Given the description of an element on the screen output the (x, y) to click on. 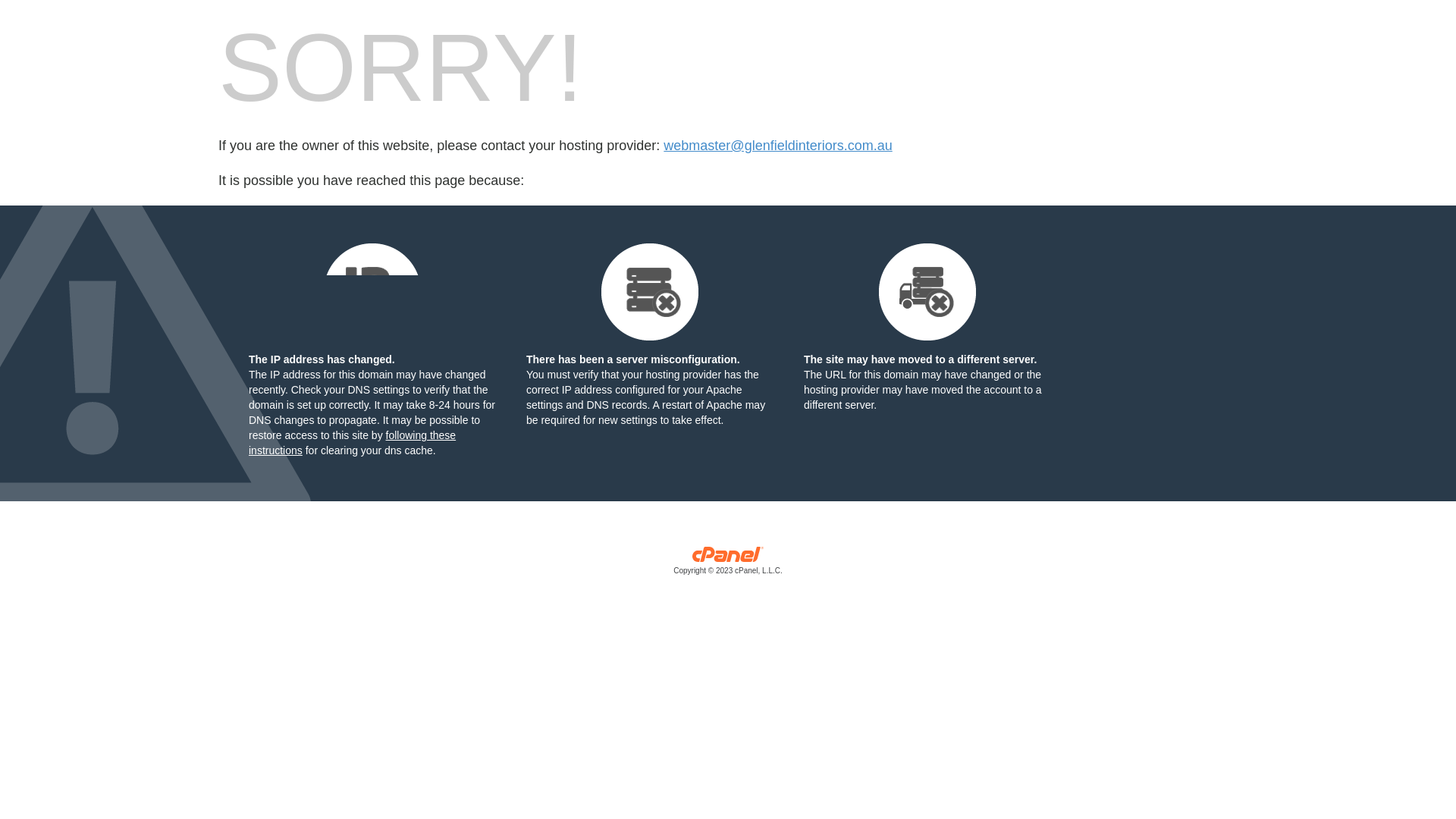
following these instructions Element type: text (351, 442)
webmaster@glenfieldinteriors.com.au Element type: text (777, 145)
